Given the description of an element on the screen output the (x, y) to click on. 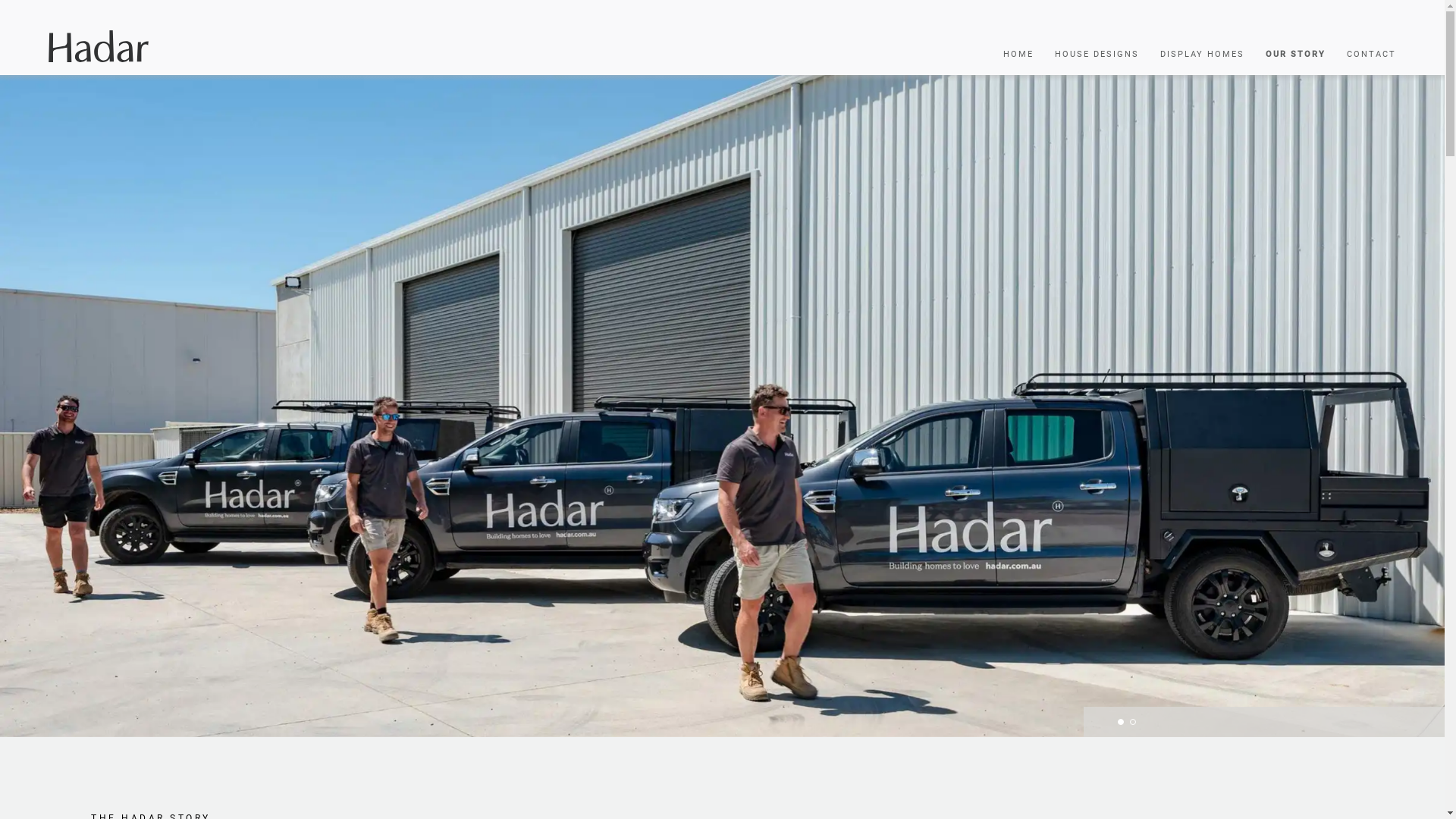
DISPLAY HOMES Element type: text (1198, 54)
OUR STORY Element type: text (1291, 54)
1 Element type: text (1120, 721)
HOUSE DESIGNS Element type: text (1093, 54)
HOME Element type: text (1014, 54)
CONTACT Element type: text (1367, 54)
2 Element type: text (1132, 721)
